Given the description of an element on the screen output the (x, y) to click on. 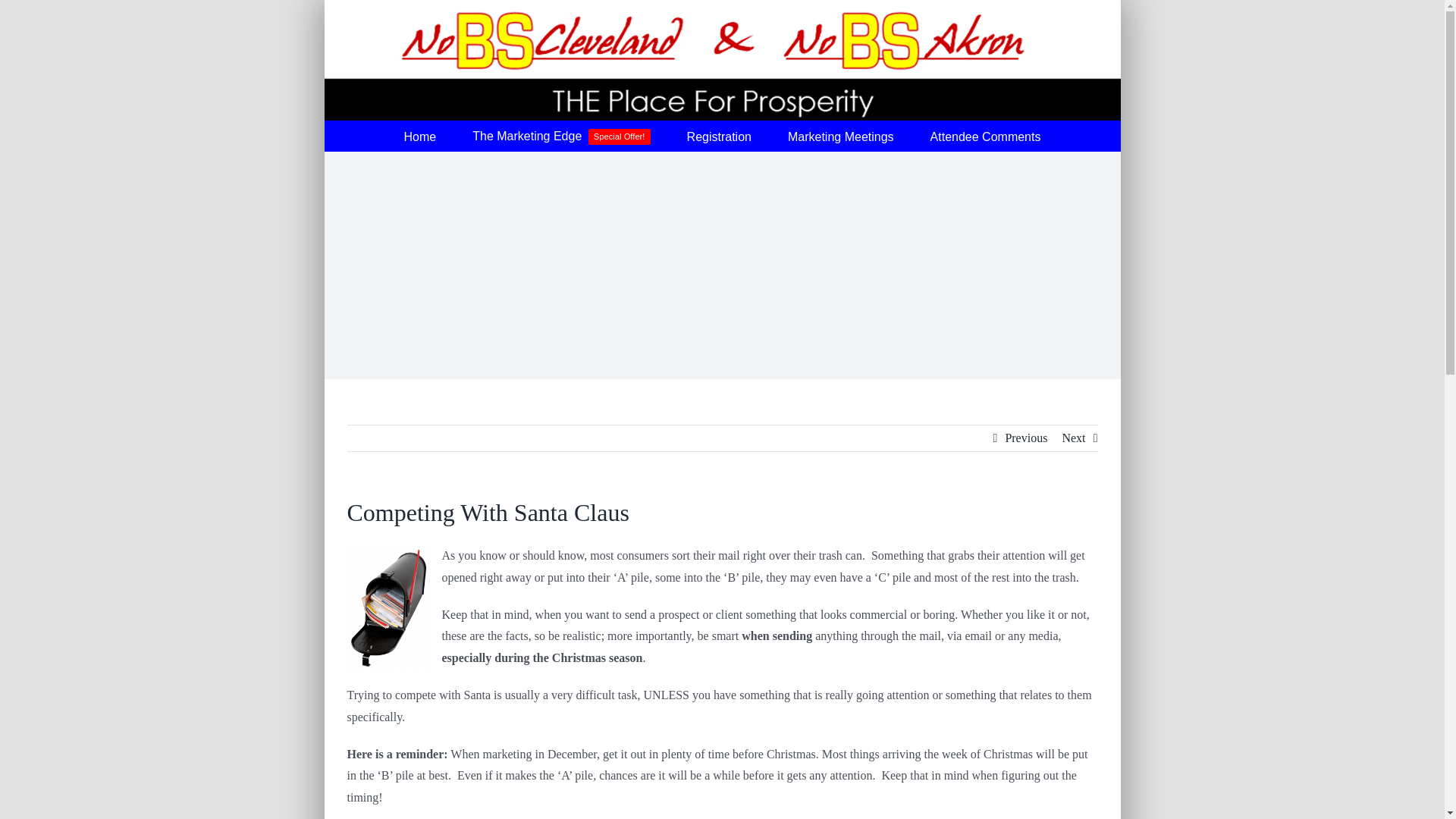
Next (560, 135)
Marketing Meetings (1072, 438)
Registration (840, 135)
Attendee Comments (719, 135)
Home (985, 135)
Previous (420, 135)
